Given the description of an element on the screen output the (x, y) to click on. 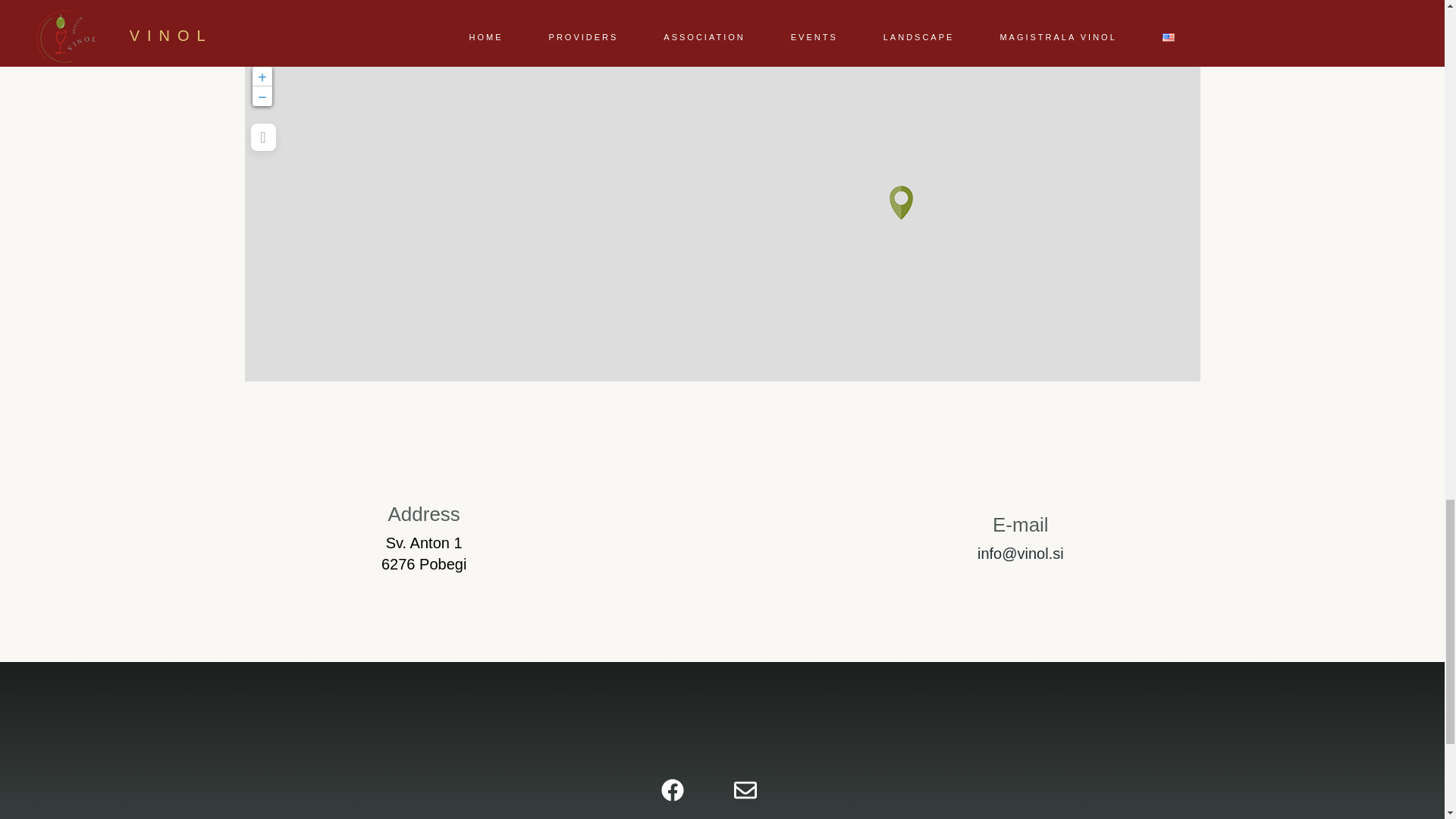
Zoom in (260, 76)
Zoom out (260, 96)
